Given the description of an element on the screen output the (x, y) to click on. 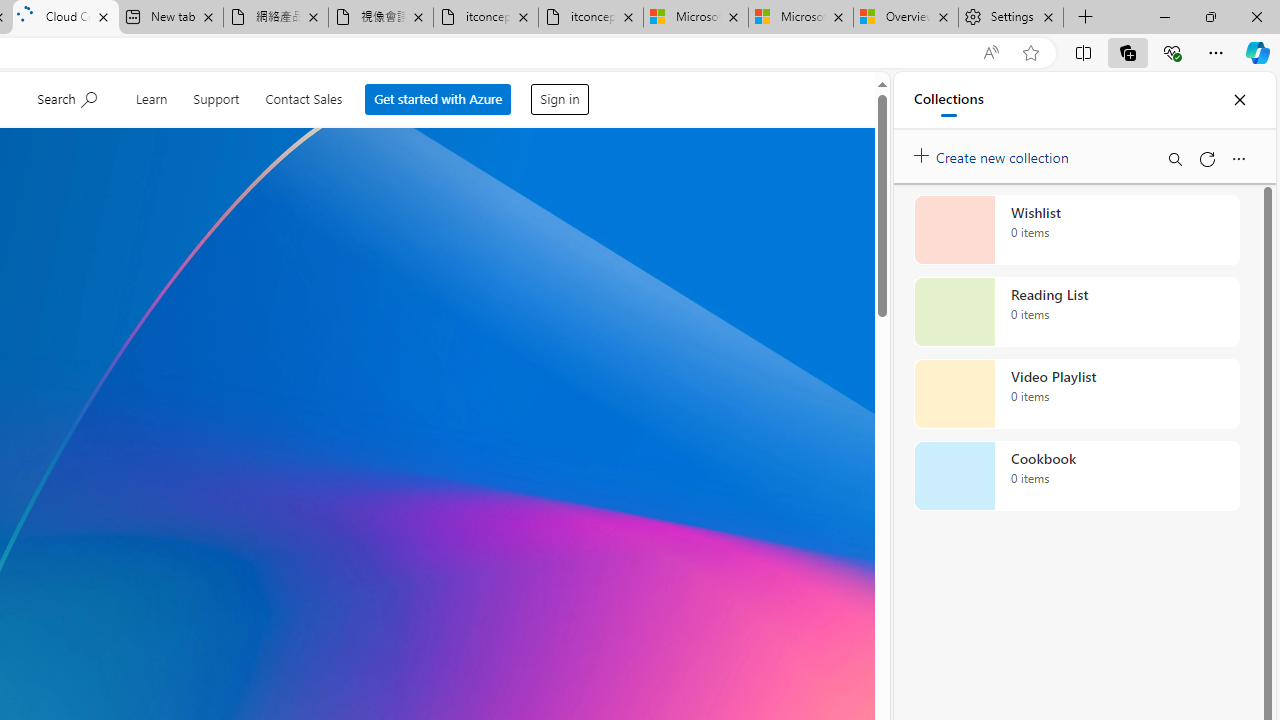
Enhance video (991, 53)
Learn (155, 96)
Create new collection (994, 153)
Learn (154, 96)
Video Playlist collection, 0 items (1076, 394)
